Given the description of an element on the screen output the (x, y) to click on. 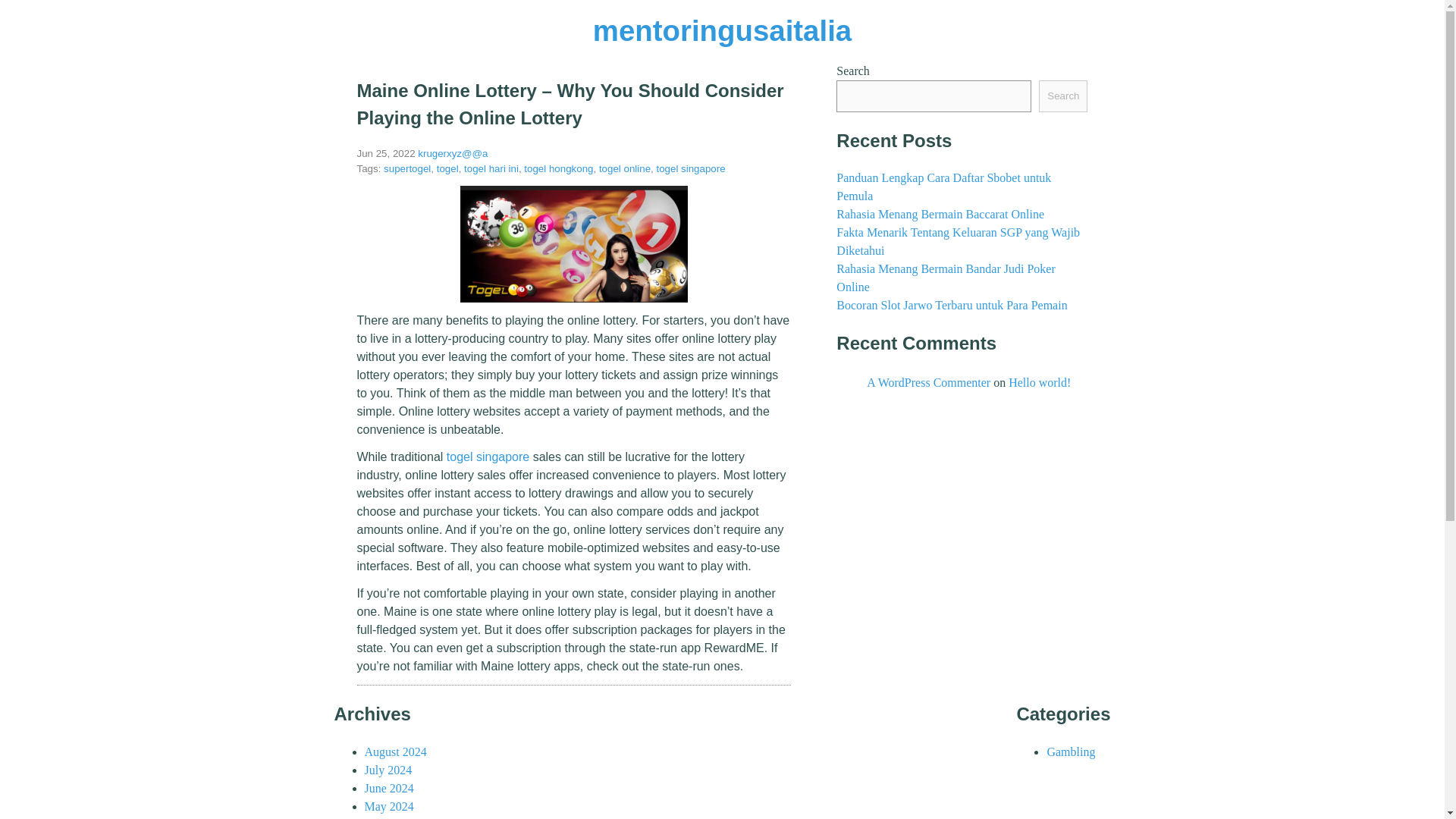
Bocoran Slot Jarwo Terbaru untuk Para Pemain (951, 305)
Rahasia Menang Bermain Bandar Judi Poker Online (944, 277)
togel (447, 168)
A WordPress Commenter (928, 382)
supertogel (407, 168)
togel online (624, 168)
Search (1063, 96)
April 2024 (390, 818)
Fakta Menarik Tentang Keluaran SGP yang Wajib Diketahui (957, 241)
Hello world! (1039, 382)
